Given the description of an element on the screen output the (x, y) to click on. 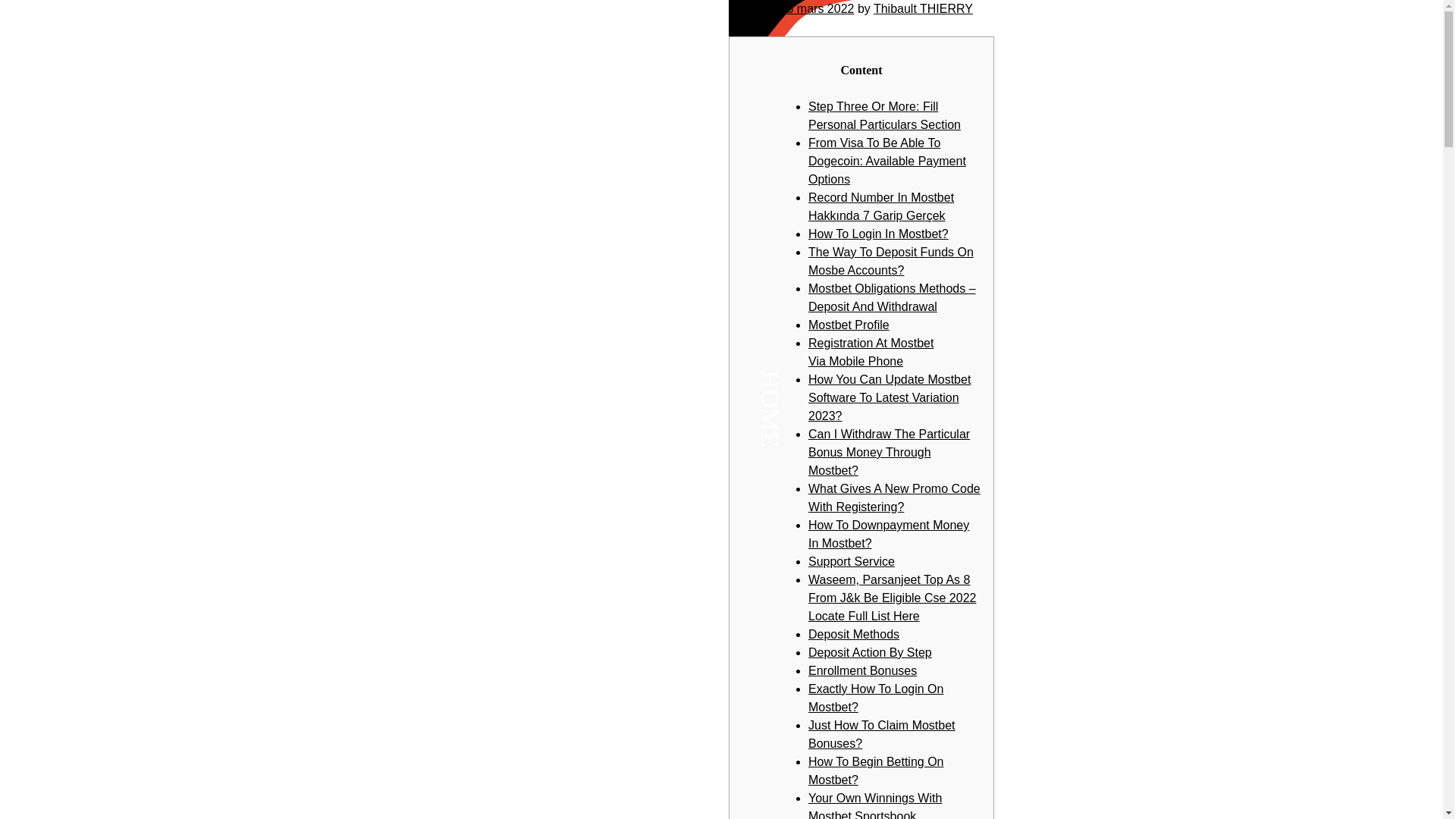
Deposit Methods (853, 634)
Can I Withdraw The Particular Bonus Money Through Mostbet? (888, 451)
Step Three Or More: Fill Personal Particulars Section (884, 115)
Support Service (851, 561)
Thibault THIERRY (922, 8)
Exactly How To Login On Mostbet? (875, 697)
Mostbet Profile (848, 324)
Just How To Claim Mostbet Bonuses? (881, 734)
Registration At Mostbet Via Mobile Phone (870, 351)
